Given the description of an element on the screen output the (x, y) to click on. 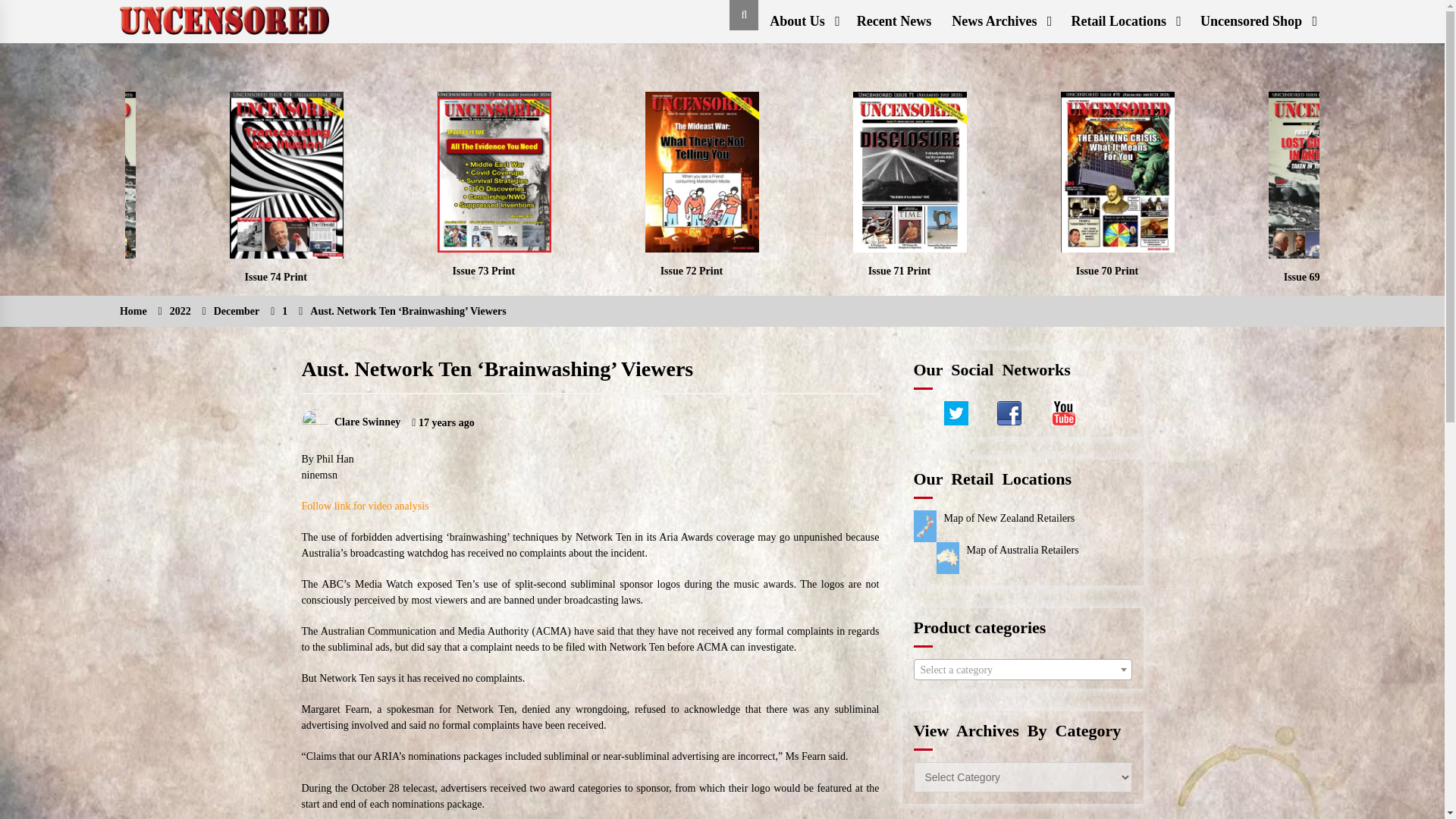
Recent News (893, 21)
News Archives (999, 21)
About Us (802, 21)
Retail Locations (1124, 21)
Uncensored Shop (1256, 21)
